Given the description of an element on the screen output the (x, y) to click on. 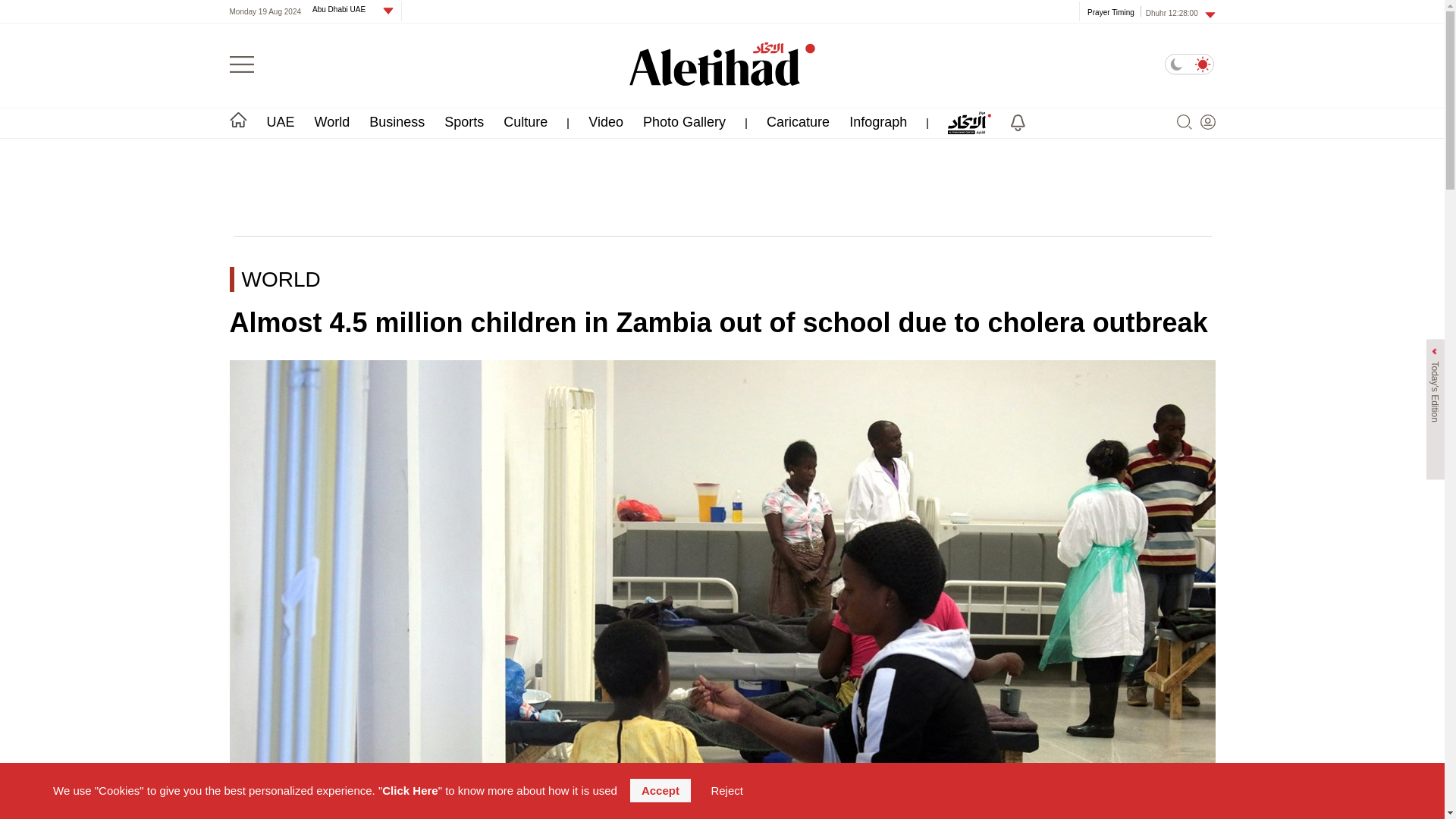
Business (397, 122)
Photo Gallery (684, 122)
Abu Dhabi UAE (344, 8)
Video (605, 122)
World (332, 122)
Infograph (877, 122)
Dhuhr 12:28:00 (1180, 12)
UAE (280, 122)
Culture (525, 122)
Prayer Timing (1110, 11)
